Given the description of an element on the screen output the (x, y) to click on. 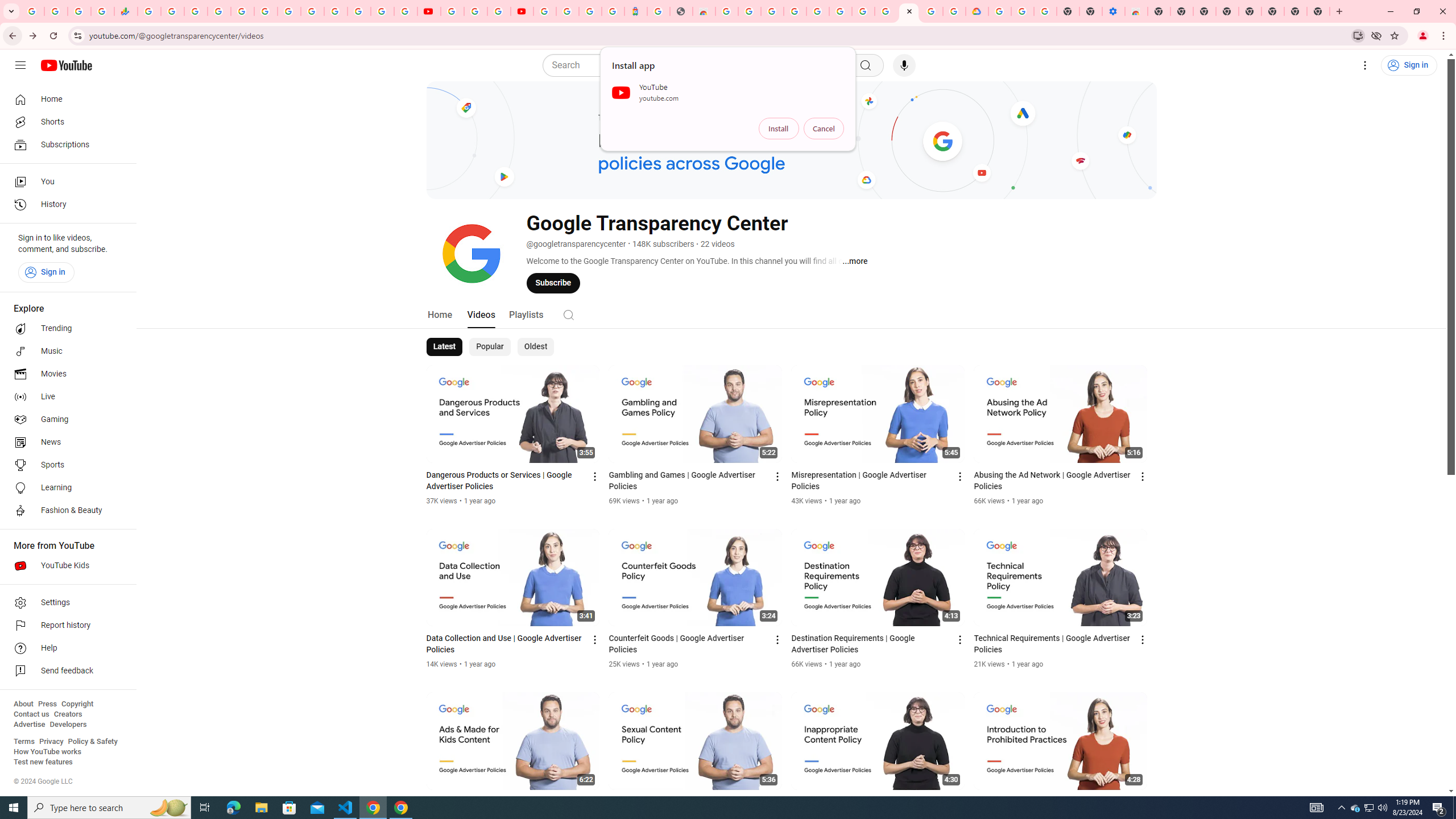
Contact us (31, 714)
Learning (64, 487)
News (64, 441)
Videos (481, 314)
Google Workspace Admin Community (32, 11)
Popular (489, 346)
Sign in - Google Accounts (381, 11)
Settings - Accessibility (1113, 11)
